Given the description of an element on the screen output the (x, y) to click on. 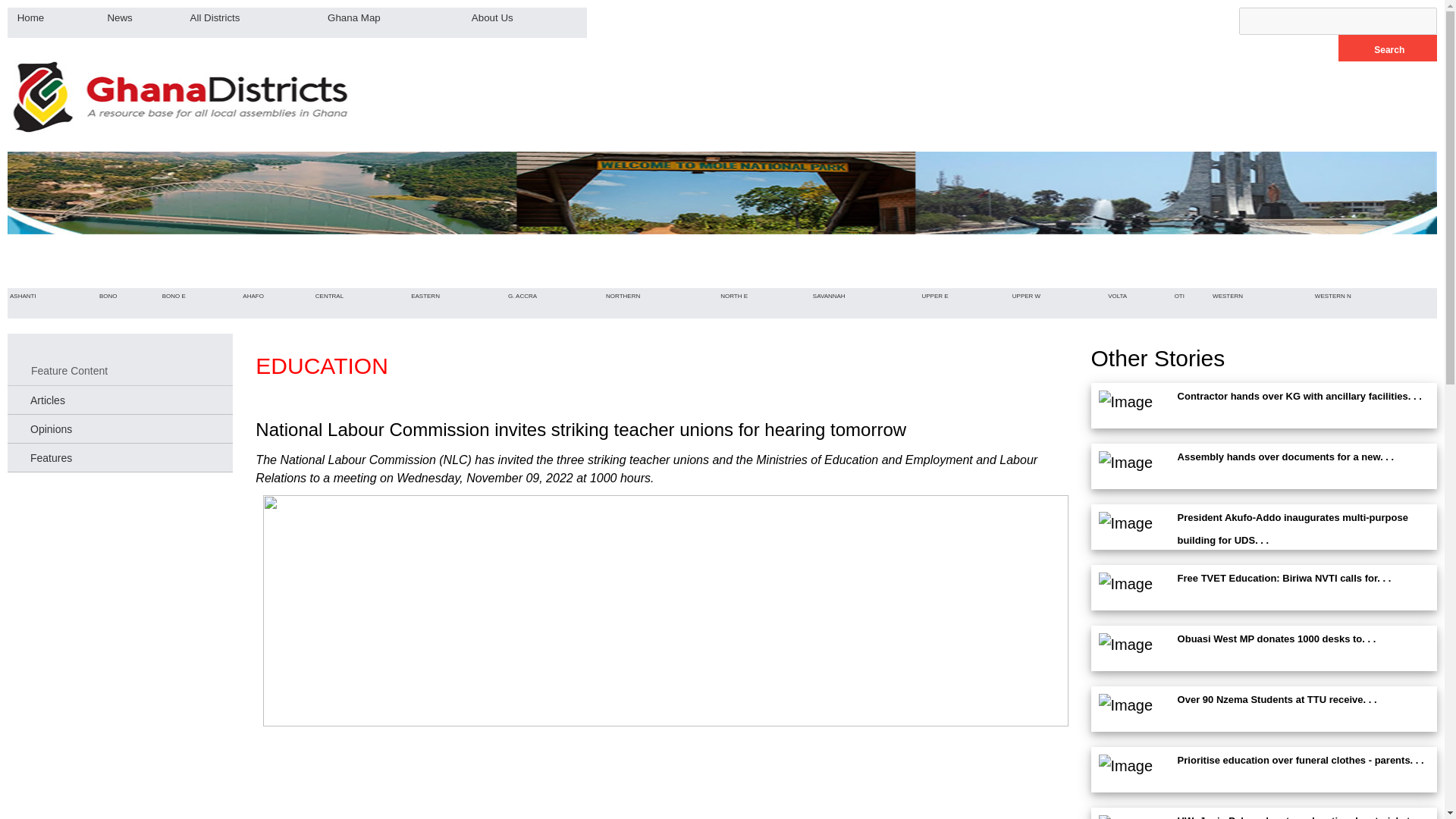
About Us (492, 17)
NORTH E (733, 296)
AHAFO (252, 296)
Ghana Map (354, 17)
NORTHERN (622, 296)
BONO (108, 296)
Search (1387, 48)
EASTERN (425, 296)
UPPER W (1026, 296)
BONO E (173, 296)
